Given the description of an element on the screen output the (x, y) to click on. 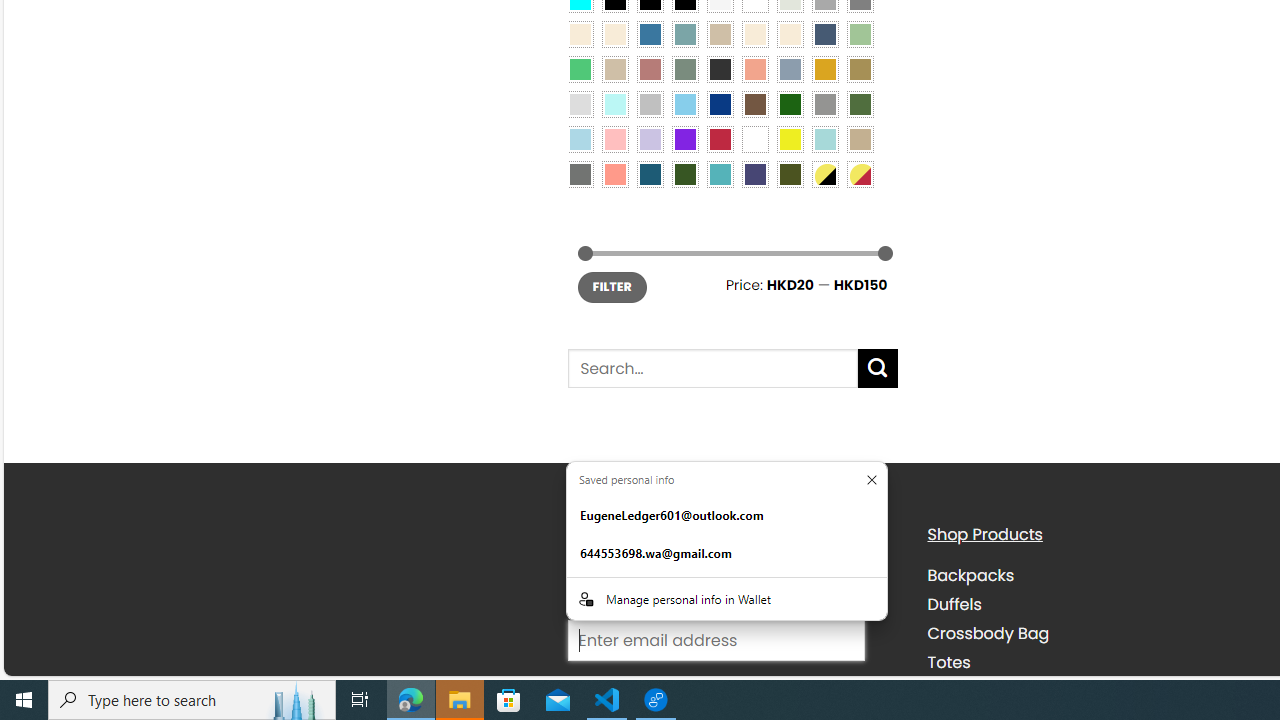
Light Taupe (614, 69)
Coral (755, 69)
Brown (755, 103)
Beige-Brown (614, 33)
Backpacks (970, 575)
Light Blue (579, 138)
Sky Blue (684, 103)
Teal (719, 174)
Backpacks (1092, 576)
Duffels (953, 605)
Yellow-Red (859, 174)
Navy Blue (719, 103)
Light Green (859, 33)
AutomationID: field_4_1 (716, 641)
Gray (824, 103)
